Given the description of an element on the screen output the (x, y) to click on. 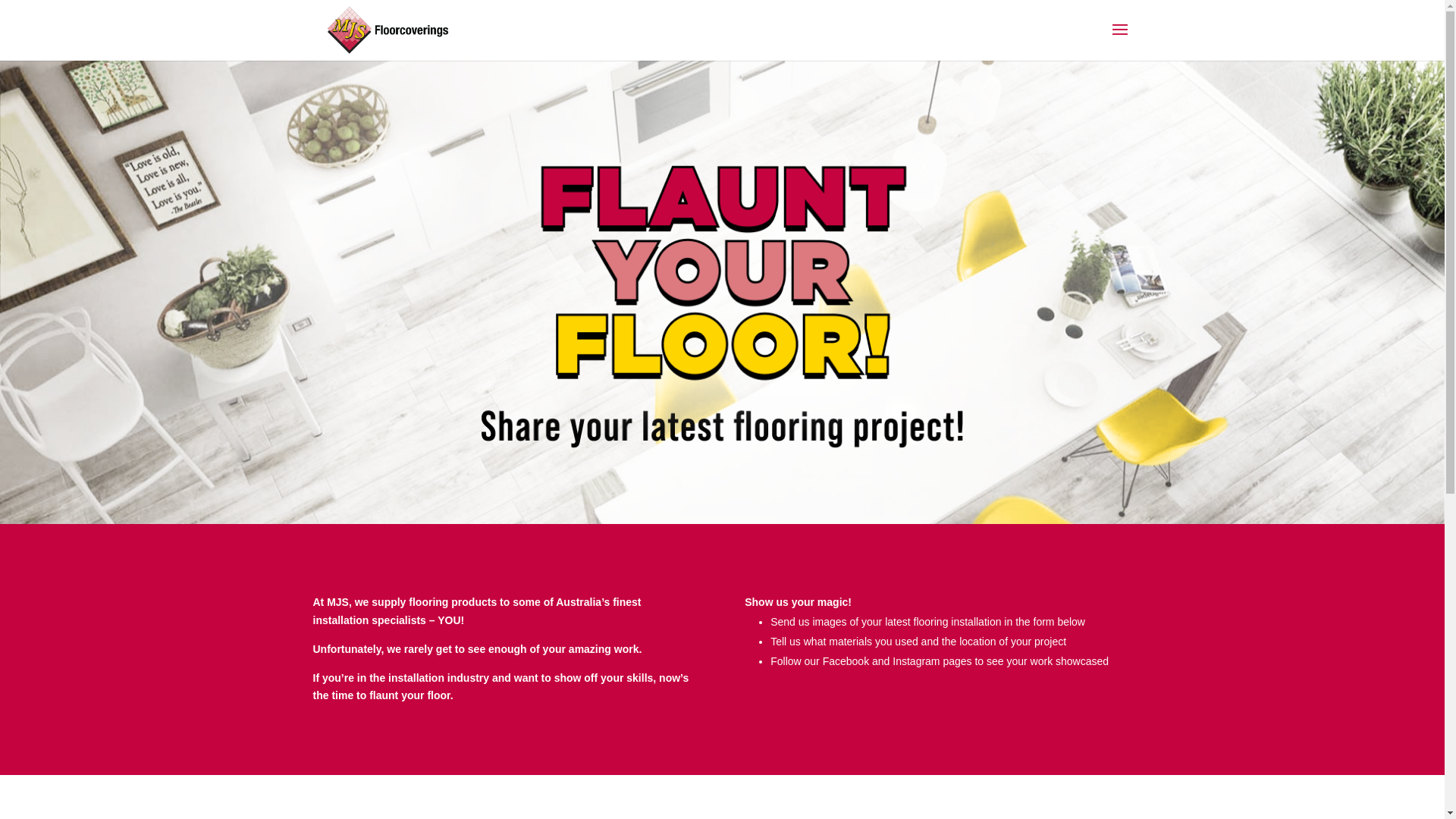
Frame 1 Element type: hover (722, 292)
